Given the description of an element on the screen output the (x, y) to click on. 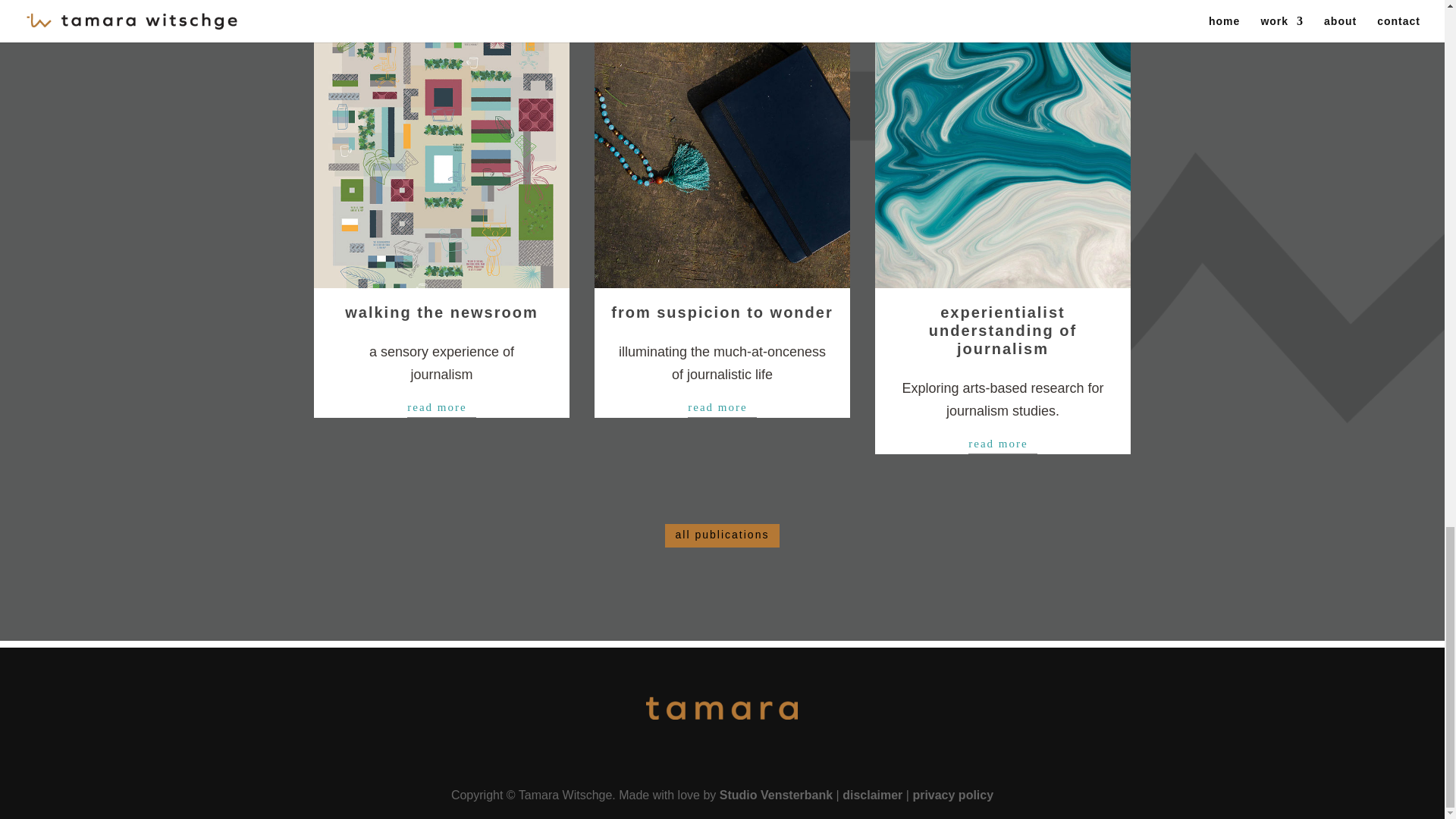
disclaimer (872, 794)
read more (1002, 444)
walking the newsroom (441, 312)
all publications (722, 535)
Studio Vensterbank (775, 794)
privacy policy (952, 794)
experientialist understanding of journalism (1002, 330)
read more (721, 407)
read more (441, 407)
from suspicion to wonder (721, 312)
